Given the description of an element on the screen output the (x, y) to click on. 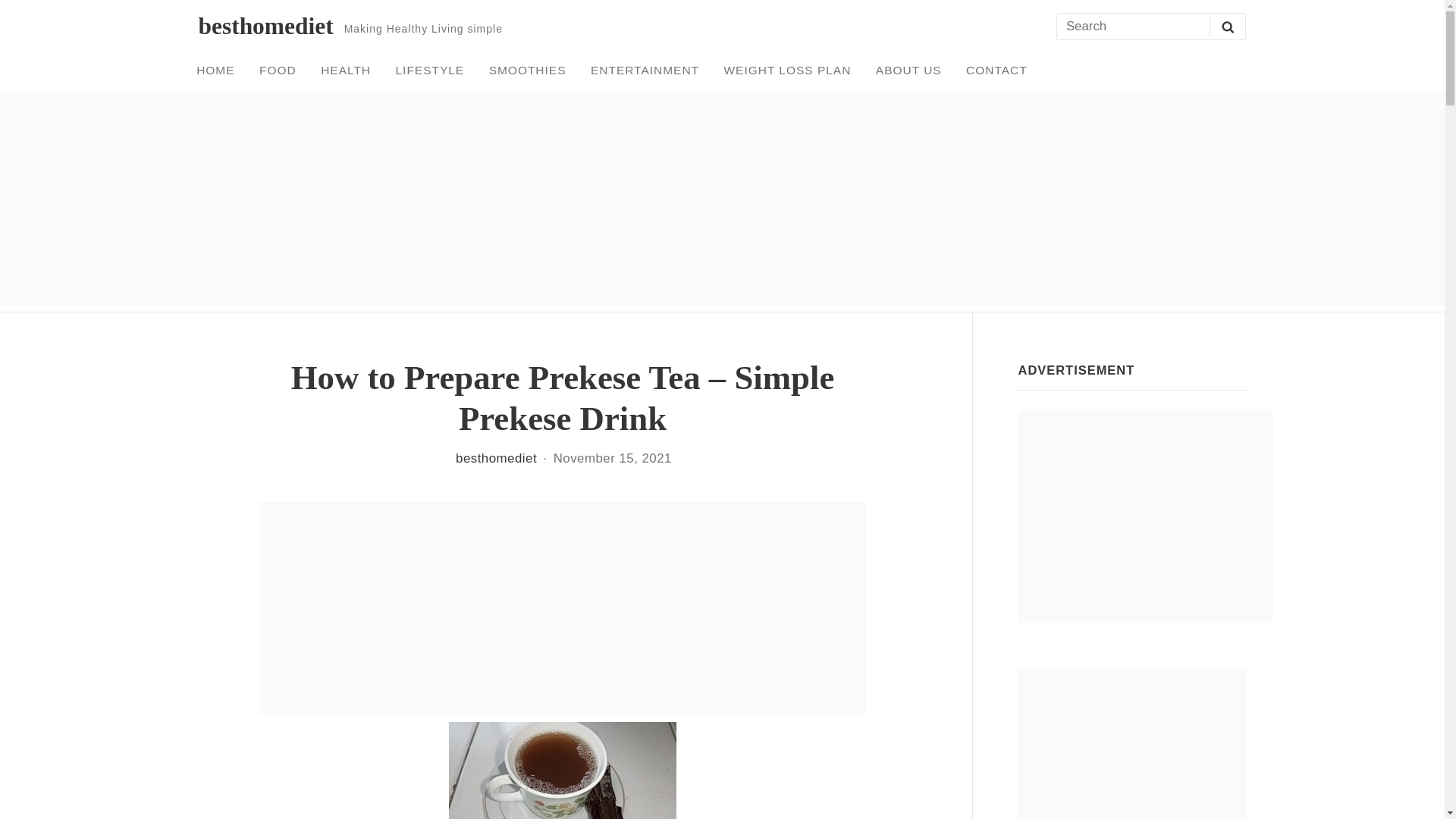
SMOOTHIES (527, 69)
ABOUT US (908, 69)
besthomediet (265, 25)
CONTACT (997, 69)
besthomediet (496, 458)
HOME (216, 69)
SEARCH (1226, 25)
FOOD (276, 69)
HEALTH (346, 69)
LIFESTYLE (429, 69)
Advertisement (1130, 744)
WEIGHT LOSS PLAN (787, 69)
Advertisement (1144, 516)
Search for: (1149, 26)
Advertisement (562, 608)
